Given the description of an element on the screen output the (x, y) to click on. 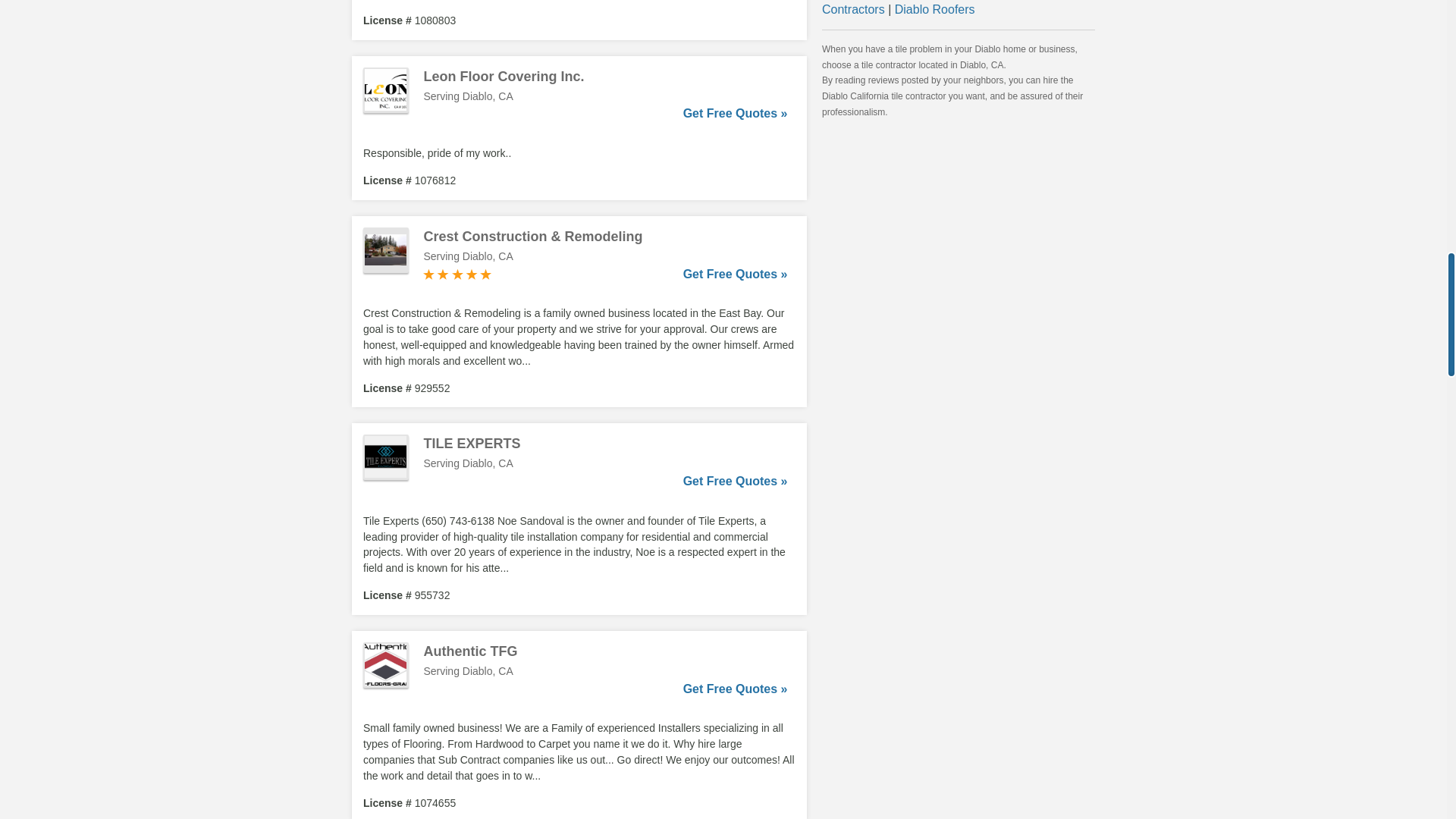
5 star rating (457, 274)
